Given the description of an element on the screen output the (x, y) to click on. 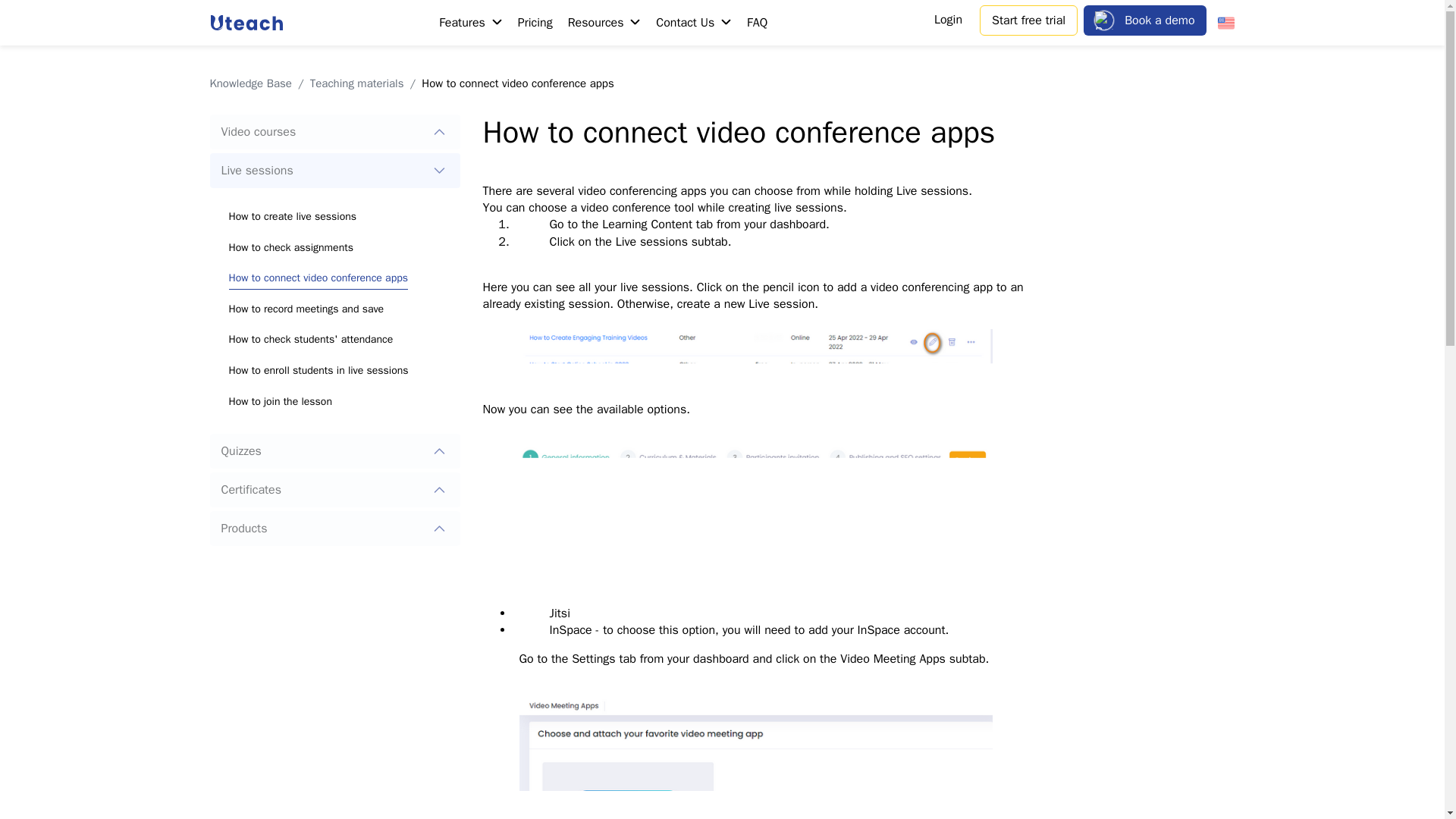
Pricing (534, 22)
Teaching materials (357, 83)
Start free trial (1028, 20)
Contact Us (693, 22)
FAQ (756, 22)
Book a demo (1144, 20)
Video courses (334, 131)
Knowledge Base (250, 83)
Resources (604, 22)
Features (470, 22)
Login (948, 19)
